Given the description of an element on the screen output the (x, y) to click on. 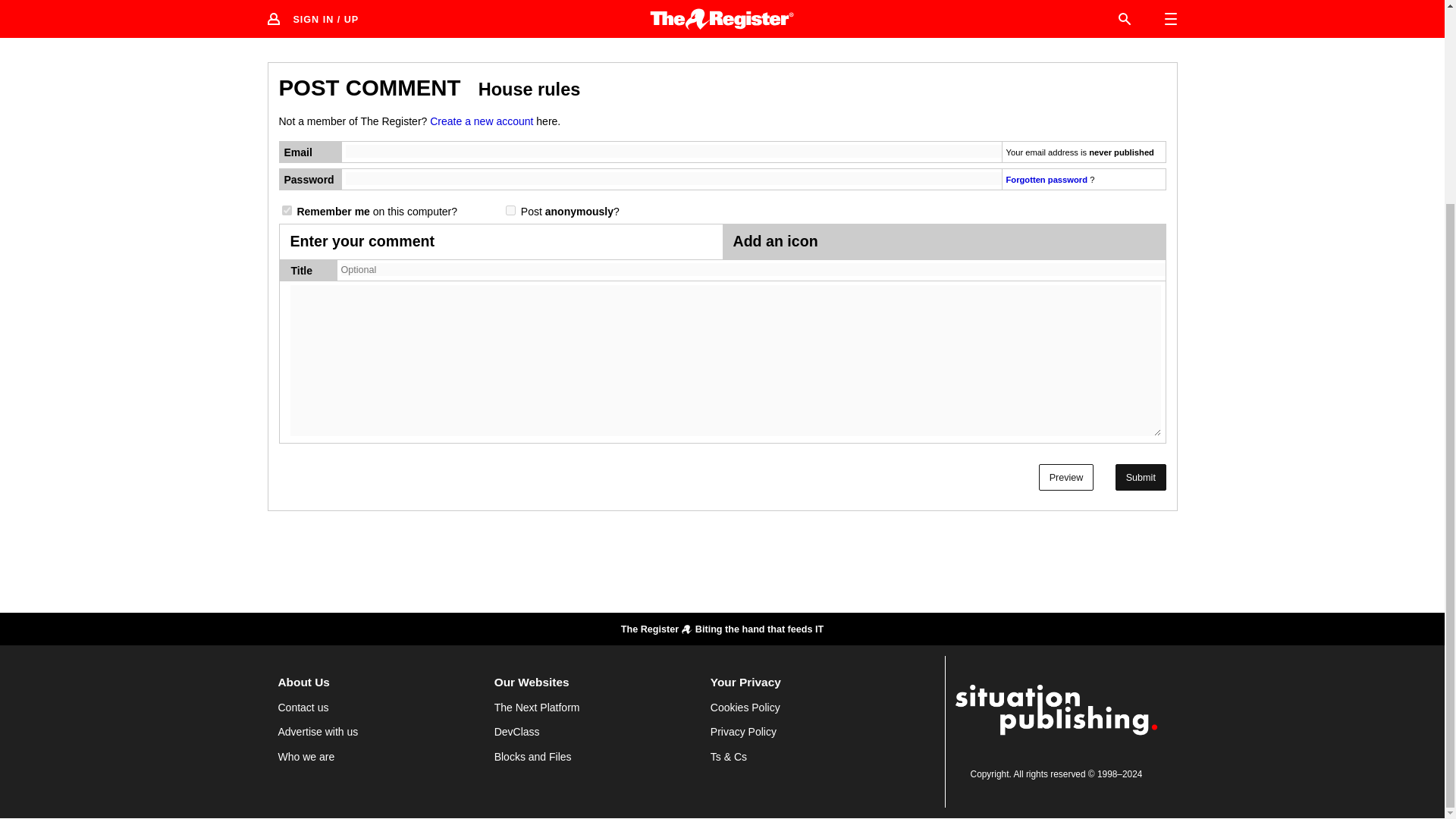
Submit (1140, 477)
Preview (1066, 477)
1 (287, 210)
1 (510, 210)
